Given the description of an element on the screen output the (x, y) to click on. 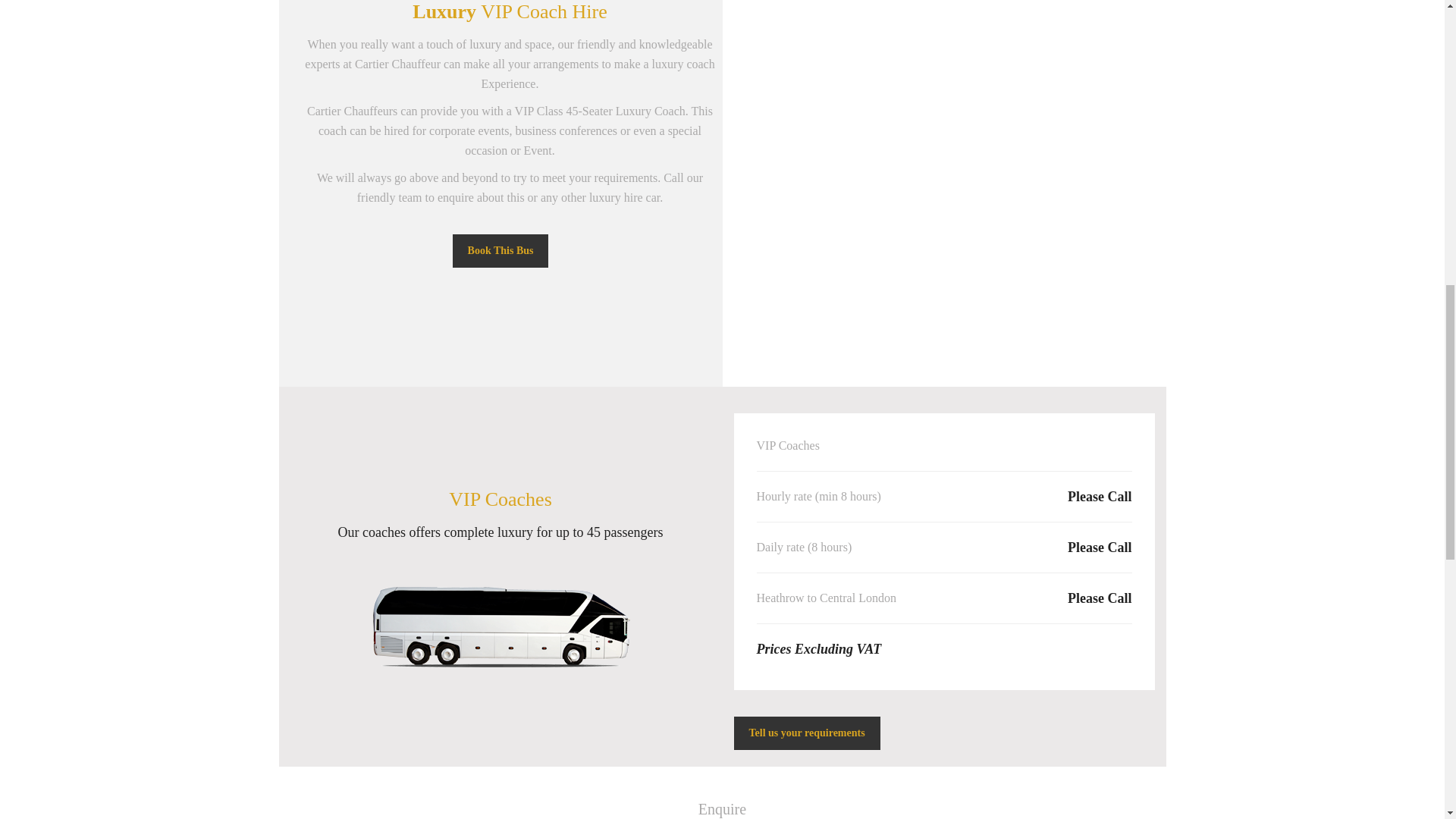
side (500, 626)
Book This Bus (500, 250)
Tell us your requirements (806, 733)
